Given the description of an element on the screen output the (x, y) to click on. 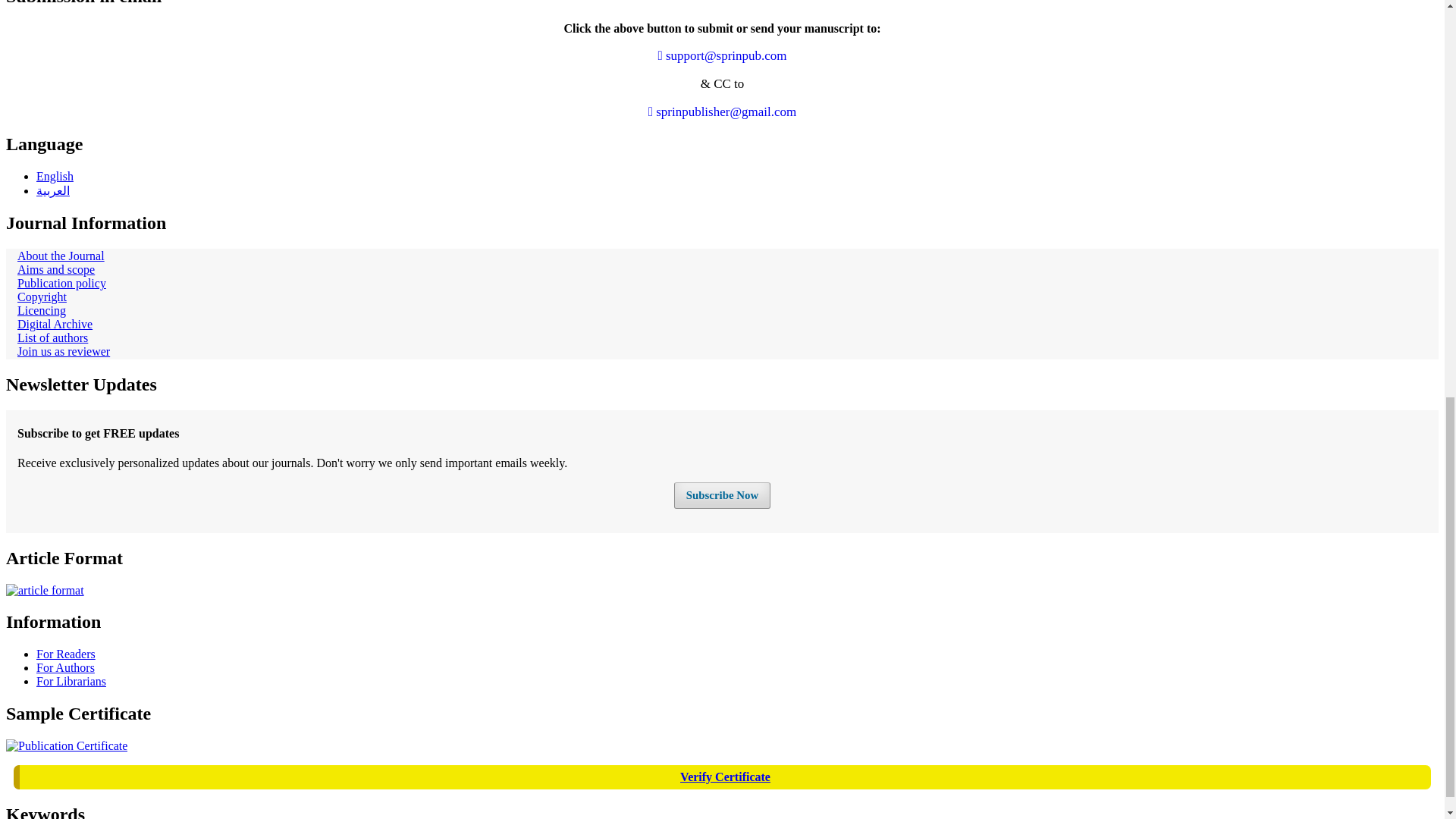
Digital Archive (55, 323)
Publication policy (61, 282)
Copyright (41, 296)
About the Journal (60, 255)
List of authors (52, 337)
Licencing (41, 309)
Join us as reviewer (63, 350)
Aims and scope (55, 269)
English (55, 175)
